Given the description of an element on the screen output the (x, y) to click on. 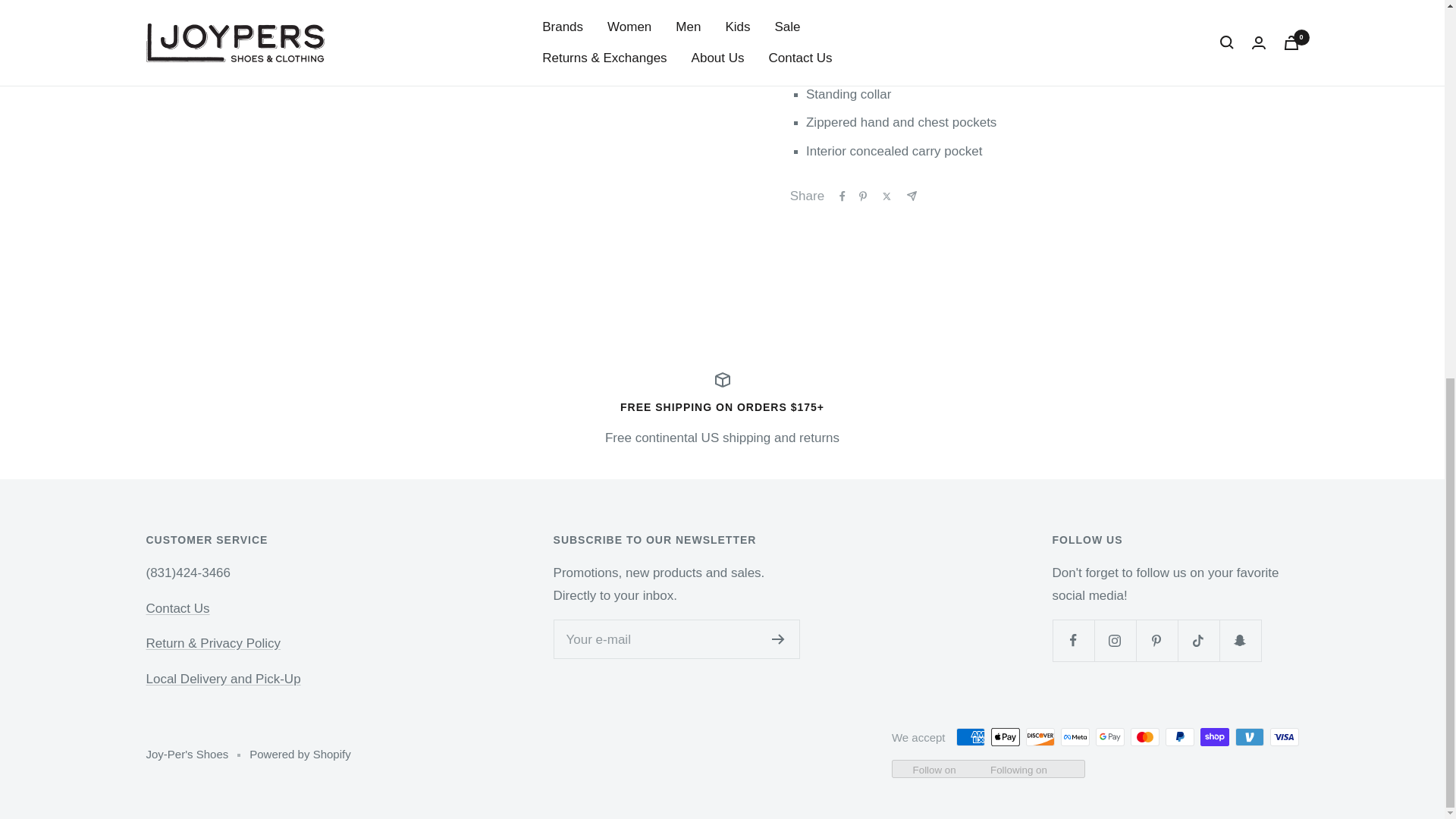
Local Delivery and Pick-Up (222, 678)
Register (777, 638)
Contact Us (177, 608)
